Given the description of an element on the screen output the (x, y) to click on. 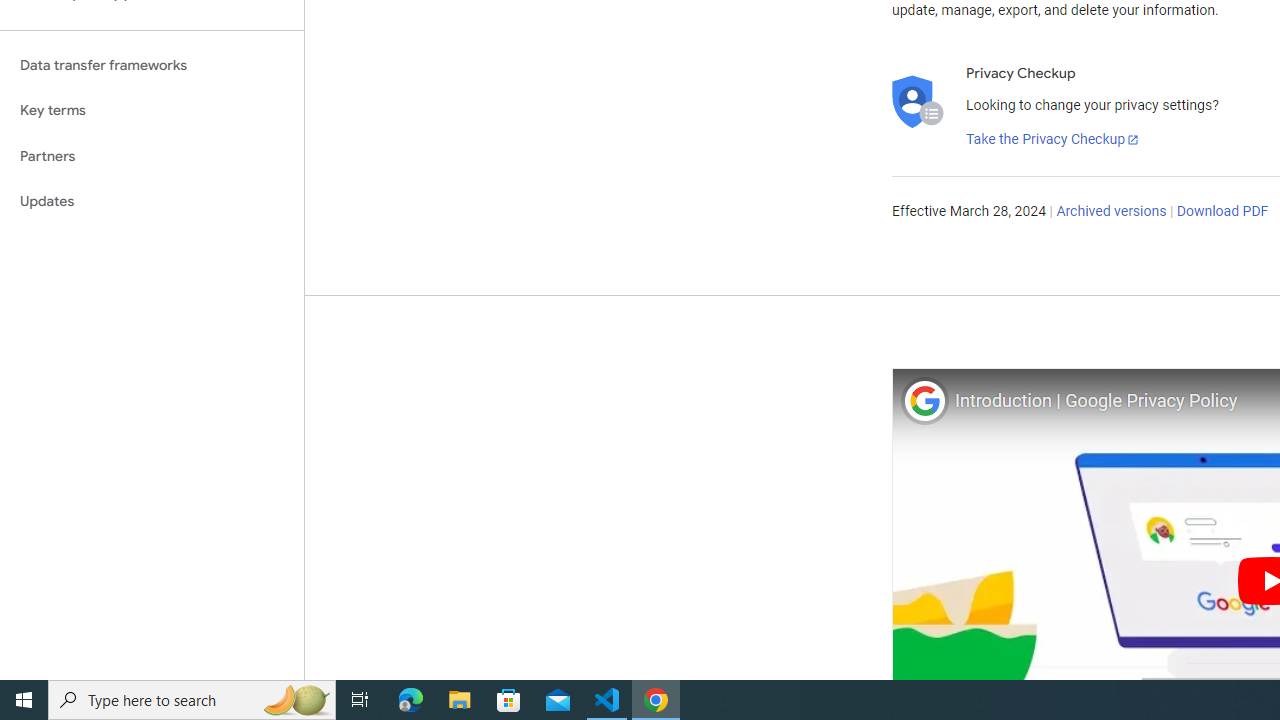
Photo image of Google (924, 400)
Download PDF (1222, 212)
Take the Privacy Checkup (1053, 140)
Archived versions (1111, 212)
